Given the description of an element on the screen output the (x, y) to click on. 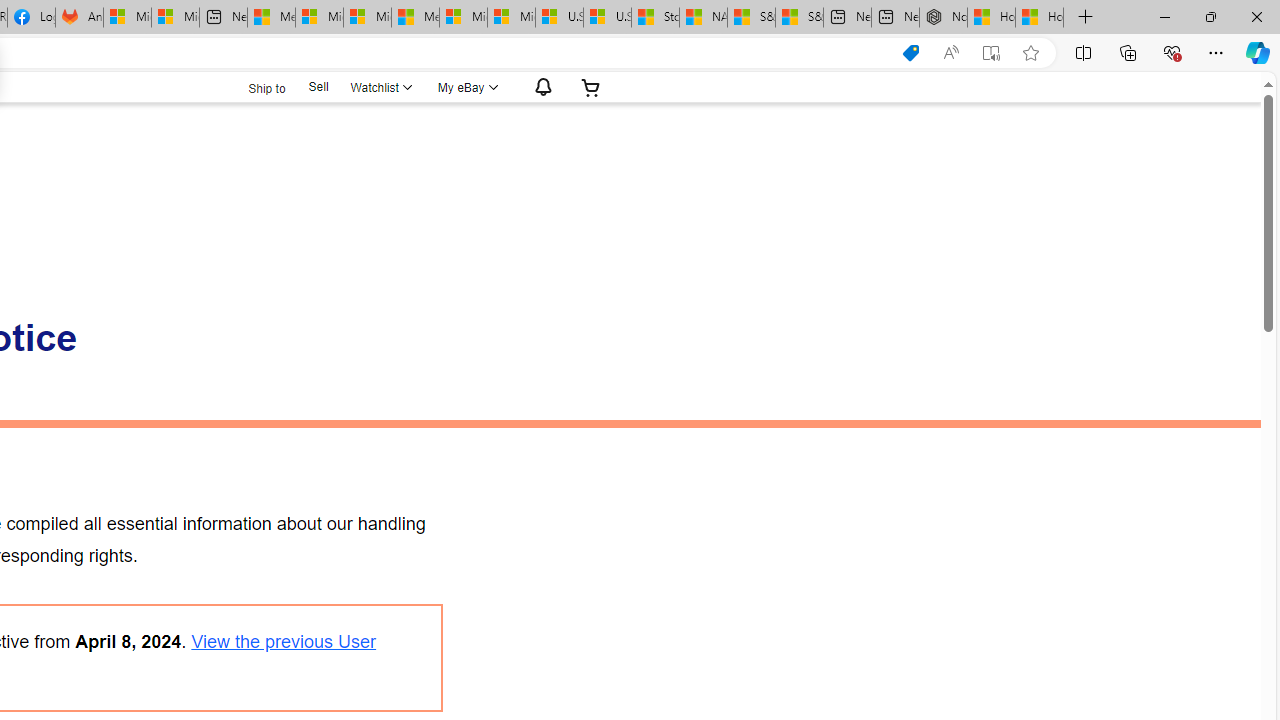
My eBayExpand My eBay (466, 87)
This site has coupons! Shopping in Microsoft Edge (910, 53)
Ship to (253, 88)
Enter Immersive Reader (F9) (991, 53)
